Given the description of an element on the screen output the (x, y) to click on. 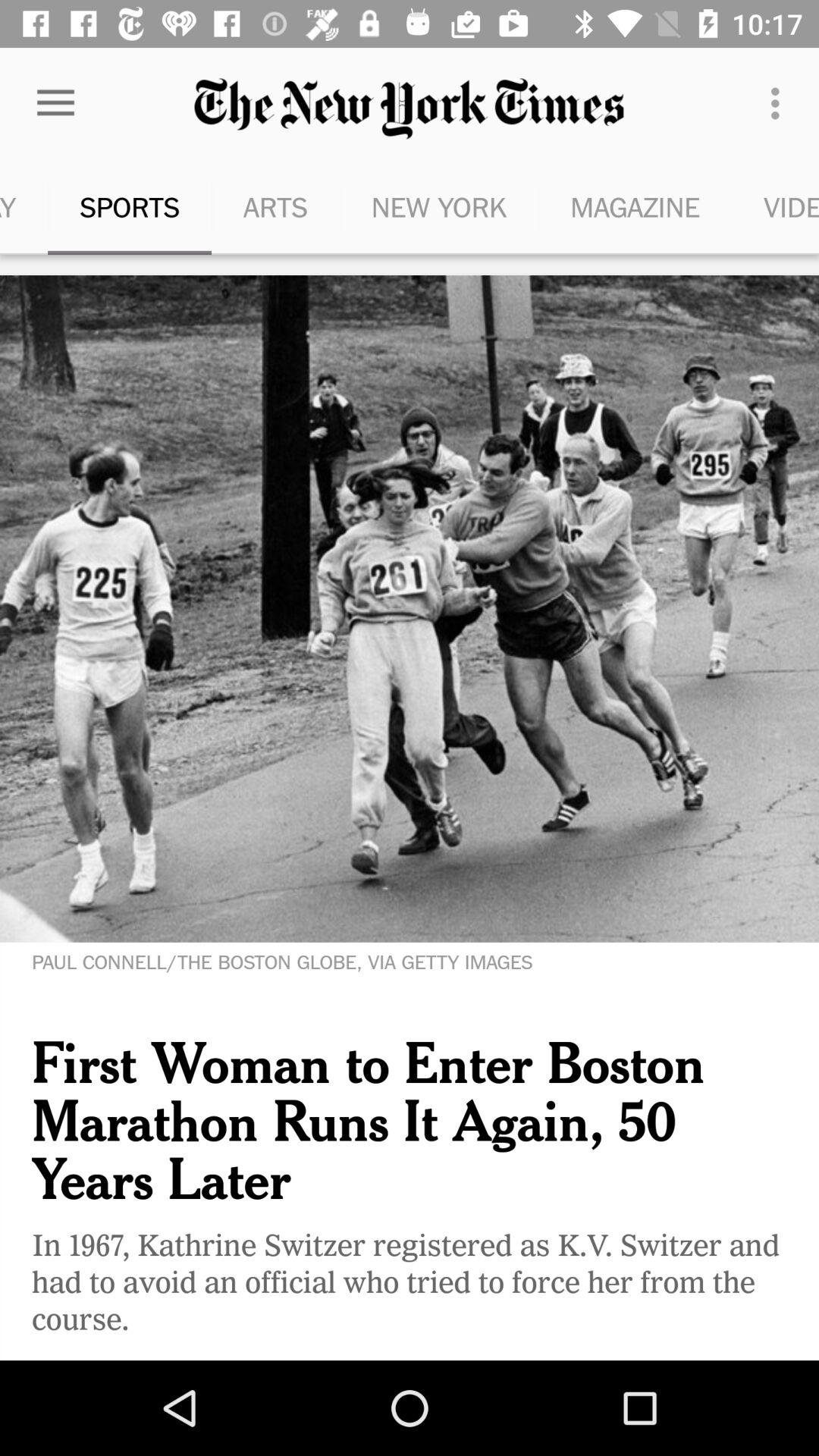
open icon next to the video item (634, 206)
